Given the description of an element on the screen output the (x, y) to click on. 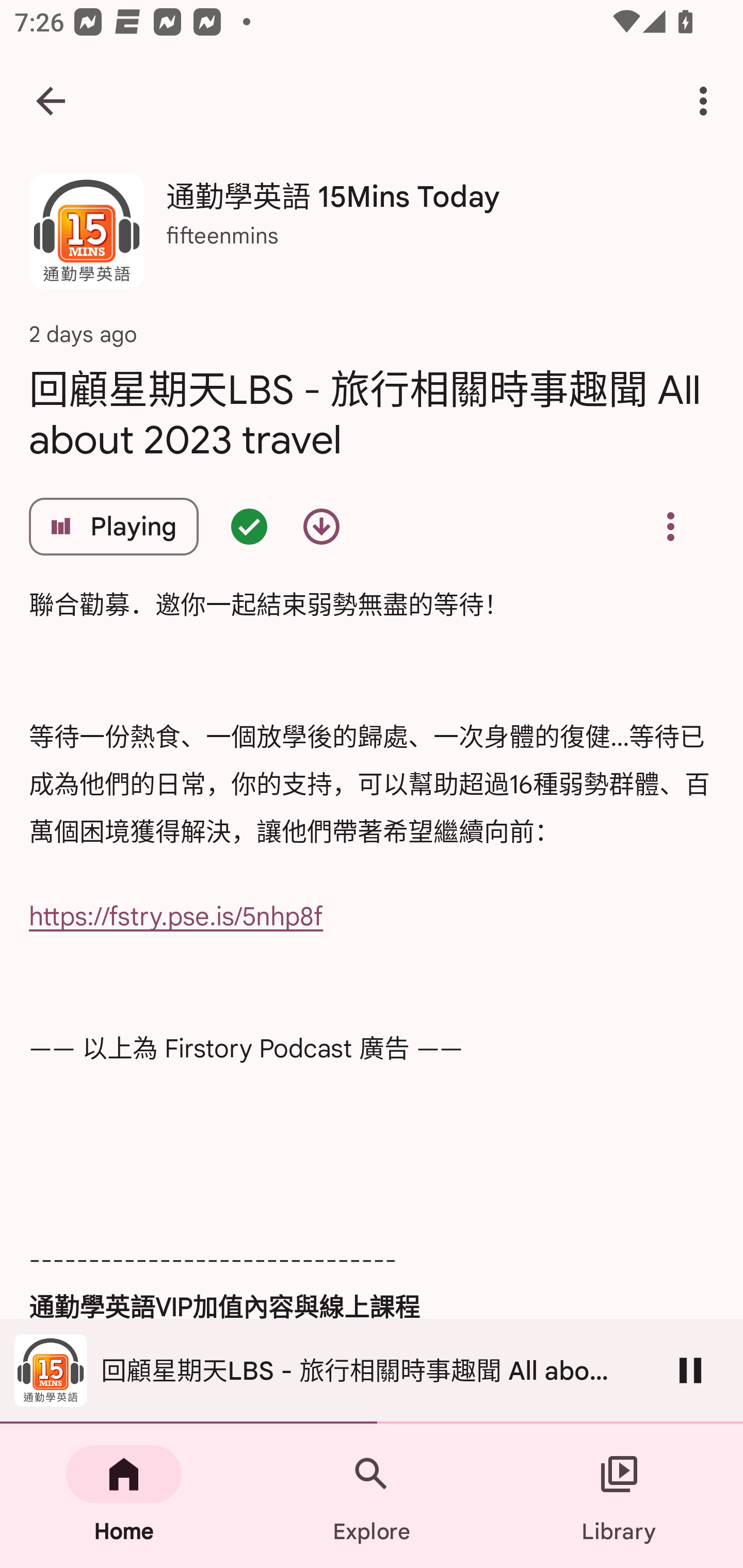
Navigate up (50, 101)
More options (706, 101)
通勤學英語 15Mins Today 通勤學英語 15Mins Today fifteenmins (371, 238)
Episode queued - double tap for options (249, 525)
Download episode (321, 525)
Overflow menu (670, 525)
Pause (690, 1370)
Explore (371, 1495)
Library (619, 1495)
